Given the description of an element on the screen output the (x, y) to click on. 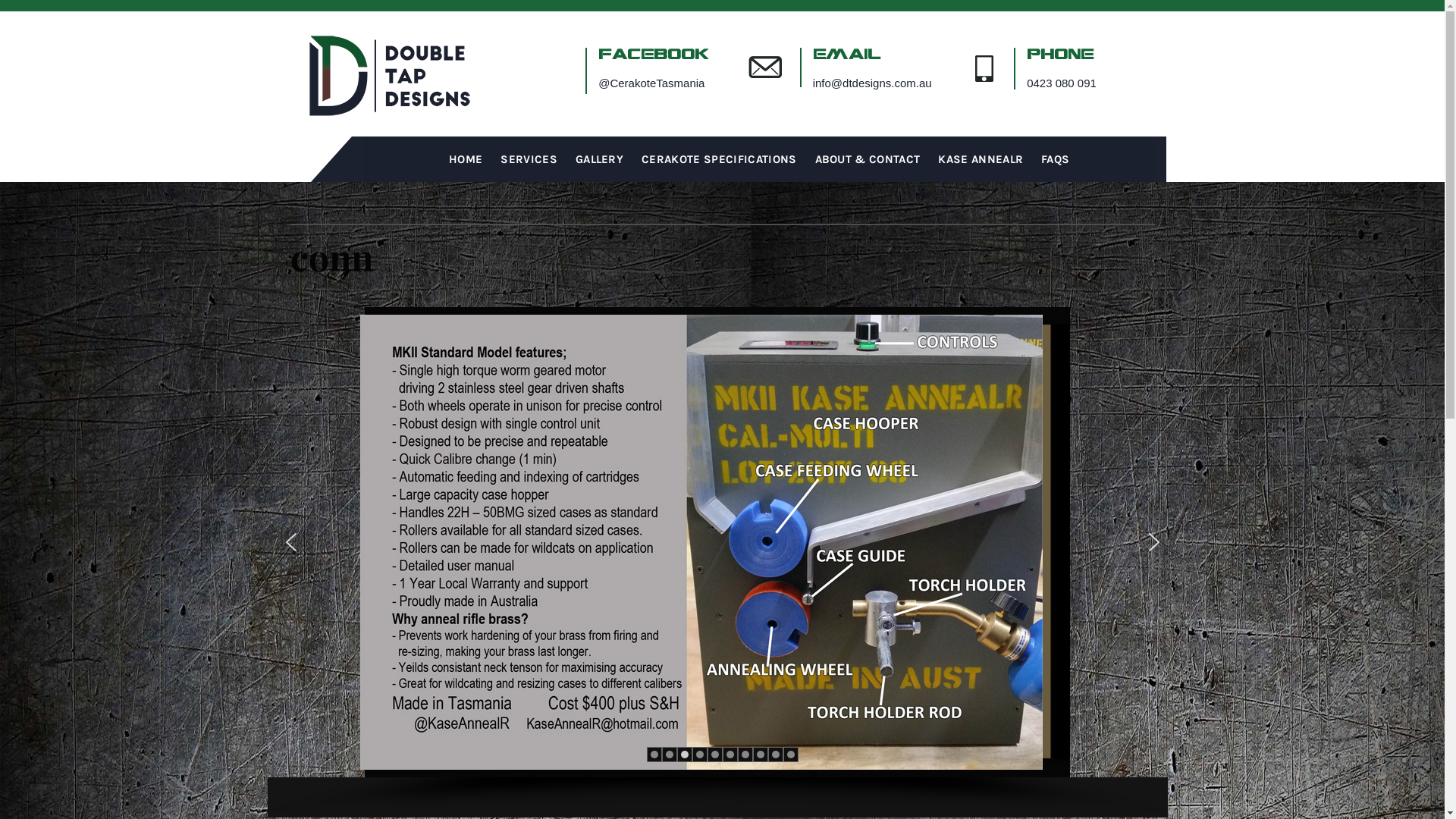
@CerakoteTasmania Element type: text (651, 82)
info@dtdesigns.com.au Element type: text (871, 82)
Search Element type: text (797, 37)
HOME Element type: text (465, 159)
KASE ANNEALR Element type: text (980, 159)
ABOUT & CONTACT Element type: text (867, 159)
GALLERY Element type: text (598, 159)
FAQS Element type: text (1054, 159)
CERAKOTE SPECIFICATIONS Element type: text (718, 159)
SERVICES Element type: text (528, 159)
0423 080 091 Element type: text (1061, 82)
